Given the description of an element on the screen output the (x, y) to click on. 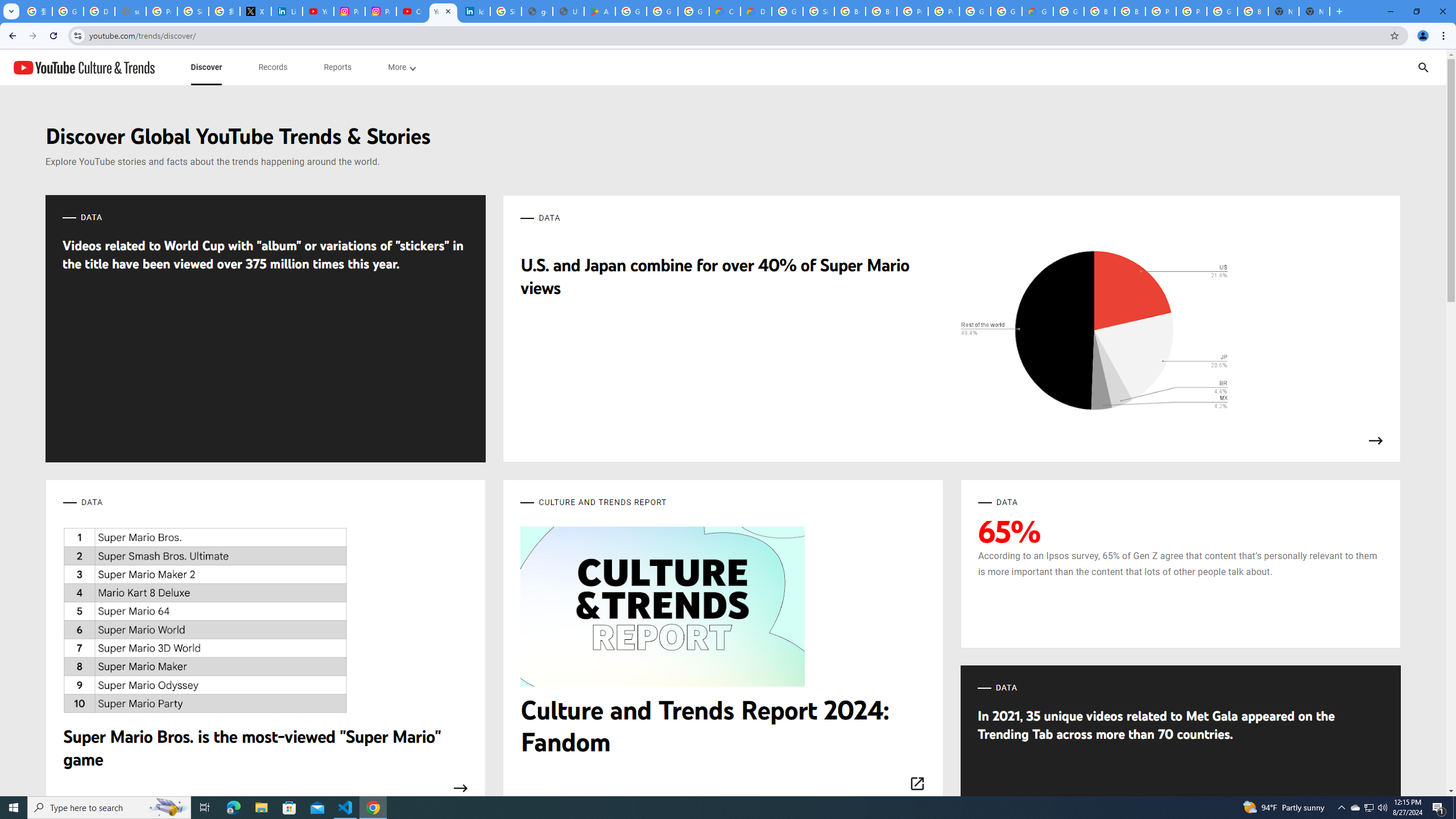
Browse Chrome as a guest - Computer - Google Chrome Help (1129, 11)
Google Workspace - Specific Terms (662, 11)
Google Cloud Platform (1068, 11)
subnav-More menupopup (401, 67)
Browse Chrome as a guest - Computer - Google Chrome Help (1098, 11)
LinkedIn Privacy Policy (286, 11)
